Given the description of an element on the screen output the (x, y) to click on. 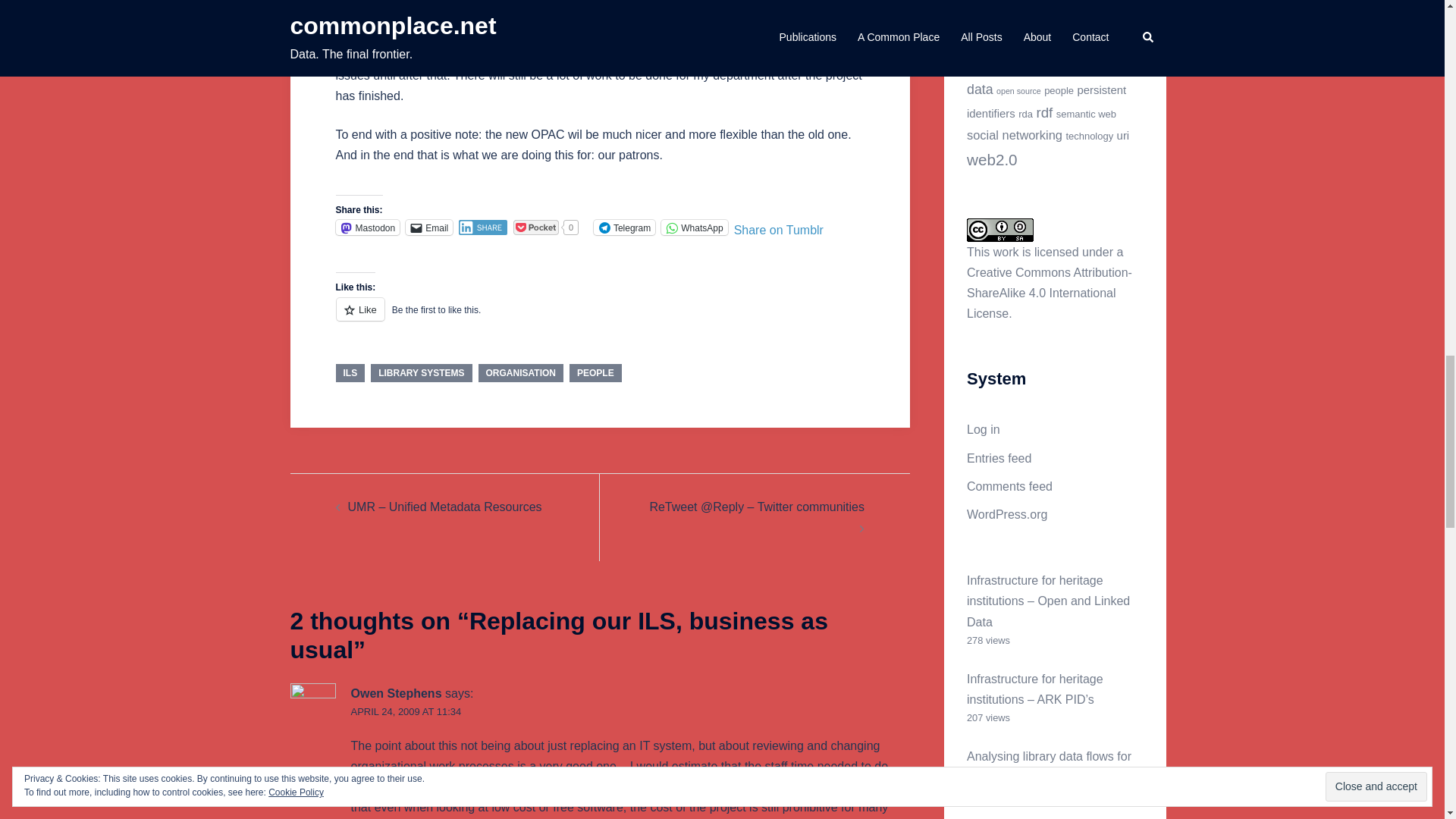
Share on Tumblr (778, 226)
SHARE (482, 227)
LIBRARY SYSTEMS (421, 372)
Click to share on WhatsApp (693, 227)
Click to email a link to a friend (429, 227)
Telegram (624, 227)
ILS (349, 372)
WhatsApp (693, 227)
Click to share on Mastodon (366, 227)
Click to share on Telegram (624, 227)
Like or Reblog (599, 318)
Email (429, 227)
Mastodon (366, 227)
Share on Tumblr (778, 226)
